Given the description of an element on the screen output the (x, y) to click on. 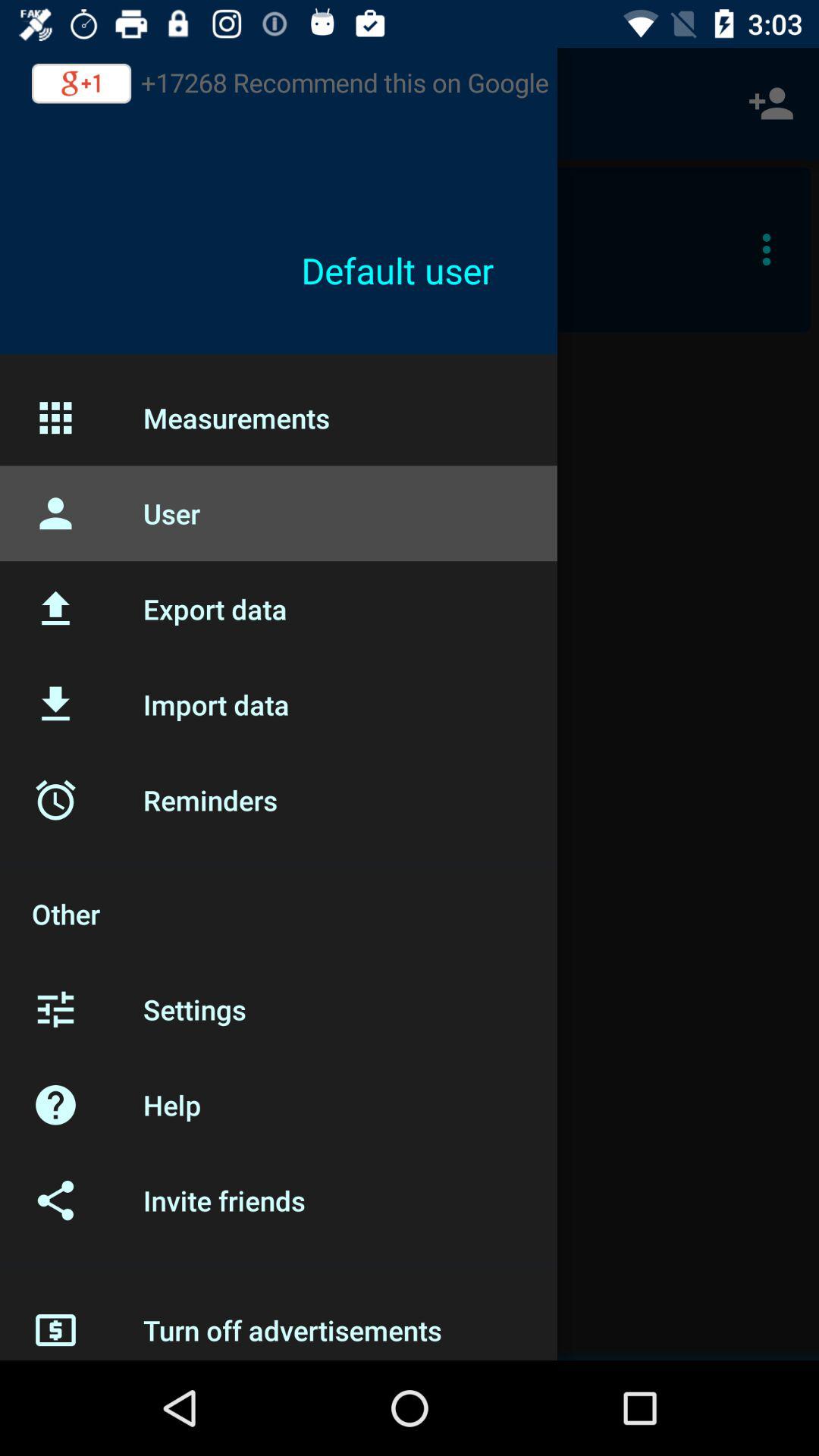
click the icon add contacts (771, 103)
